Given the description of an element on the screen output the (x, y) to click on. 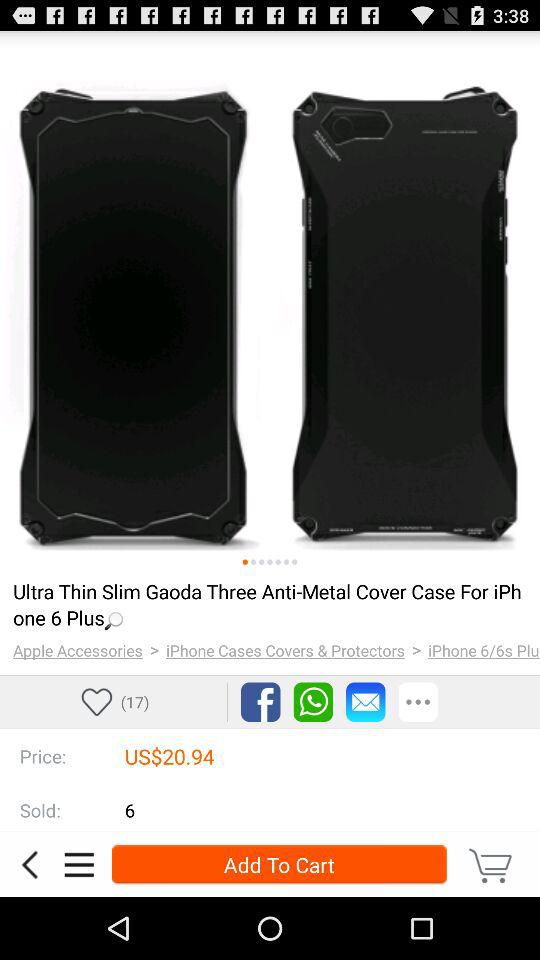
jump to the loading... item (267, 604)
